Given the description of an element on the screen output the (x, y) to click on. 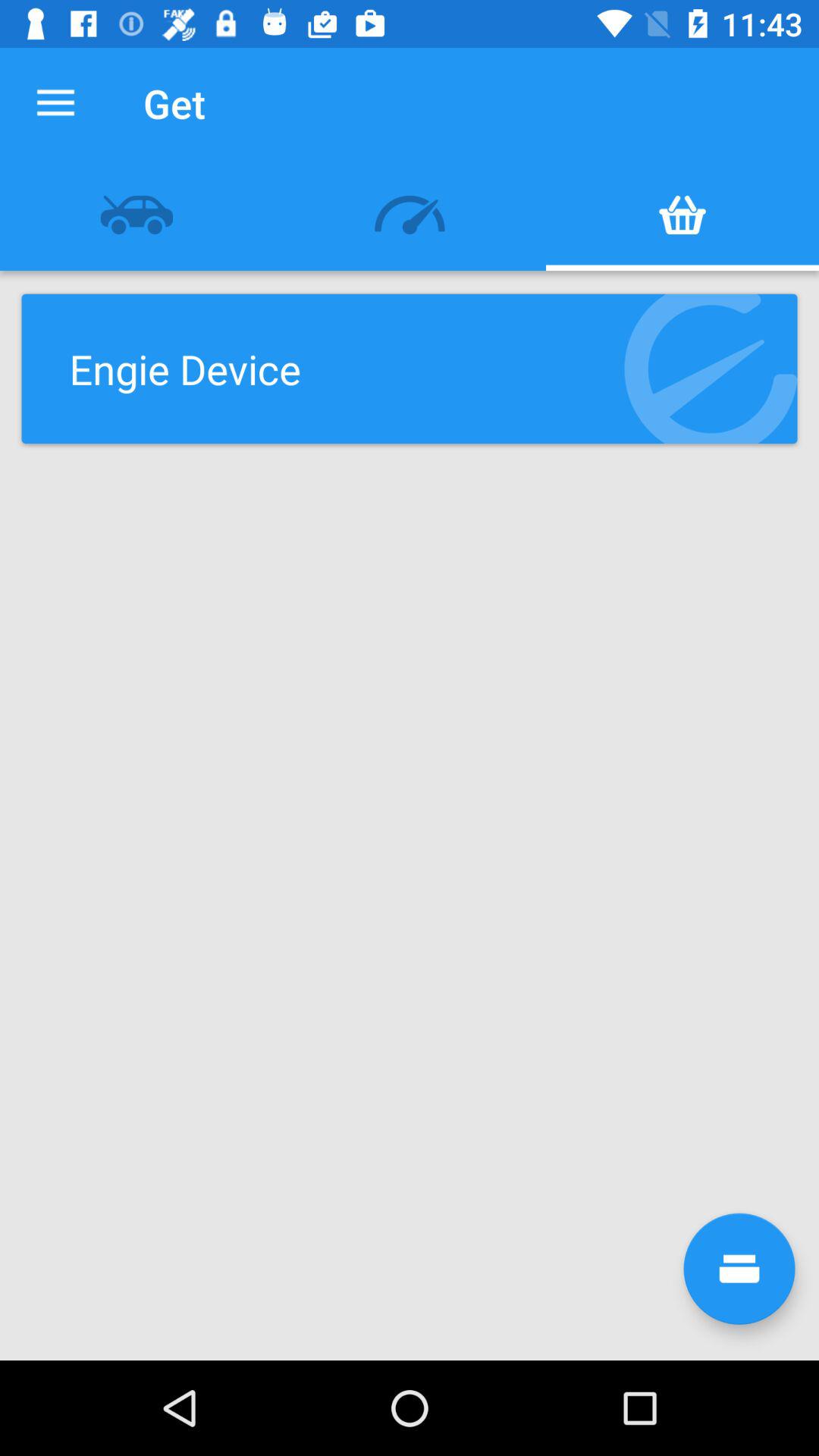
choose icon above engie device item (409, 214)
